Given the description of an element on the screen output the (x, y) to click on. 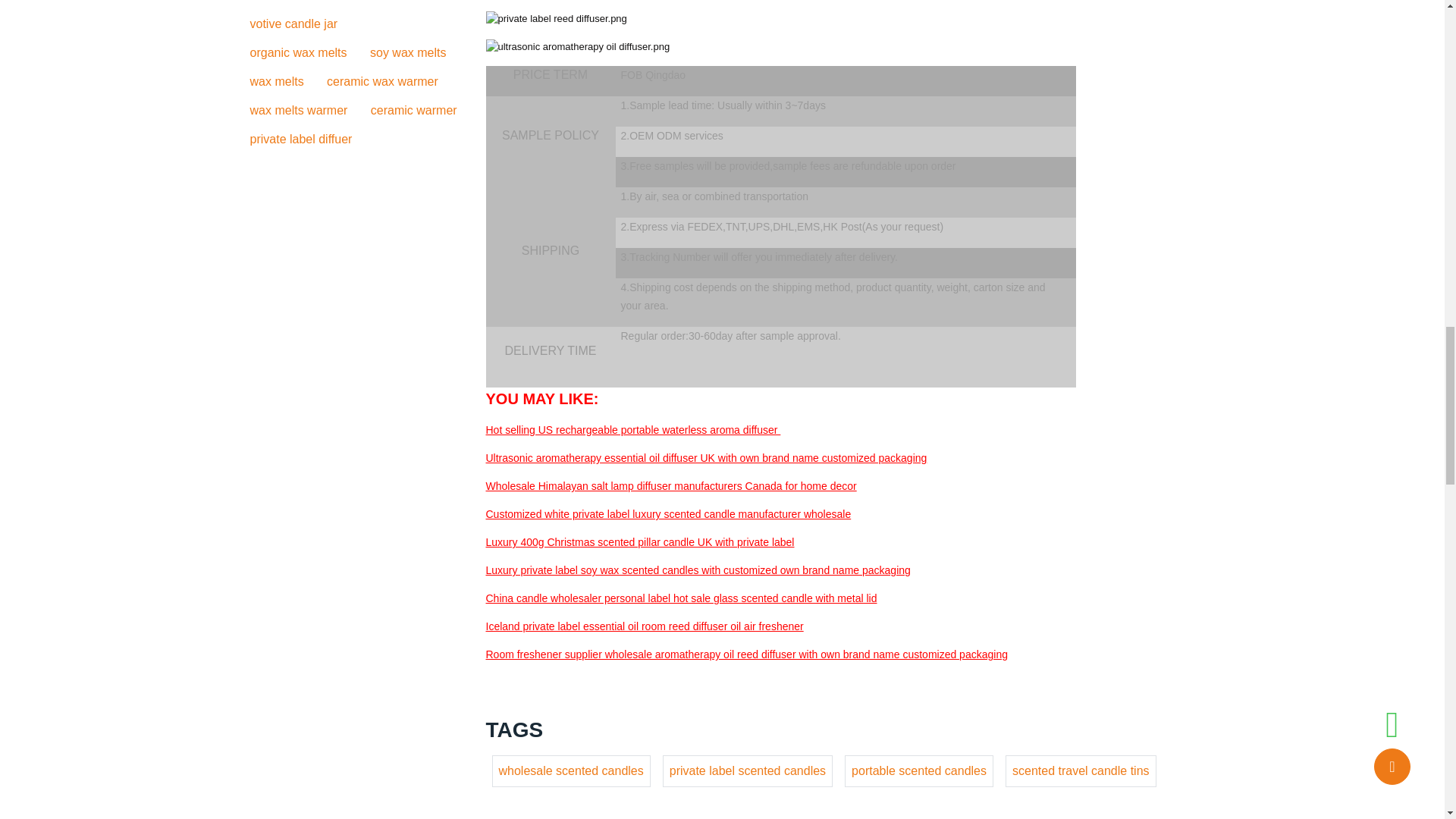
private label reed diffuser731935.png (555, 18)
ultrasonic aromatherapy oil diffuser604141.png (576, 46)
